Given the description of an element on the screen output the (x, y) to click on. 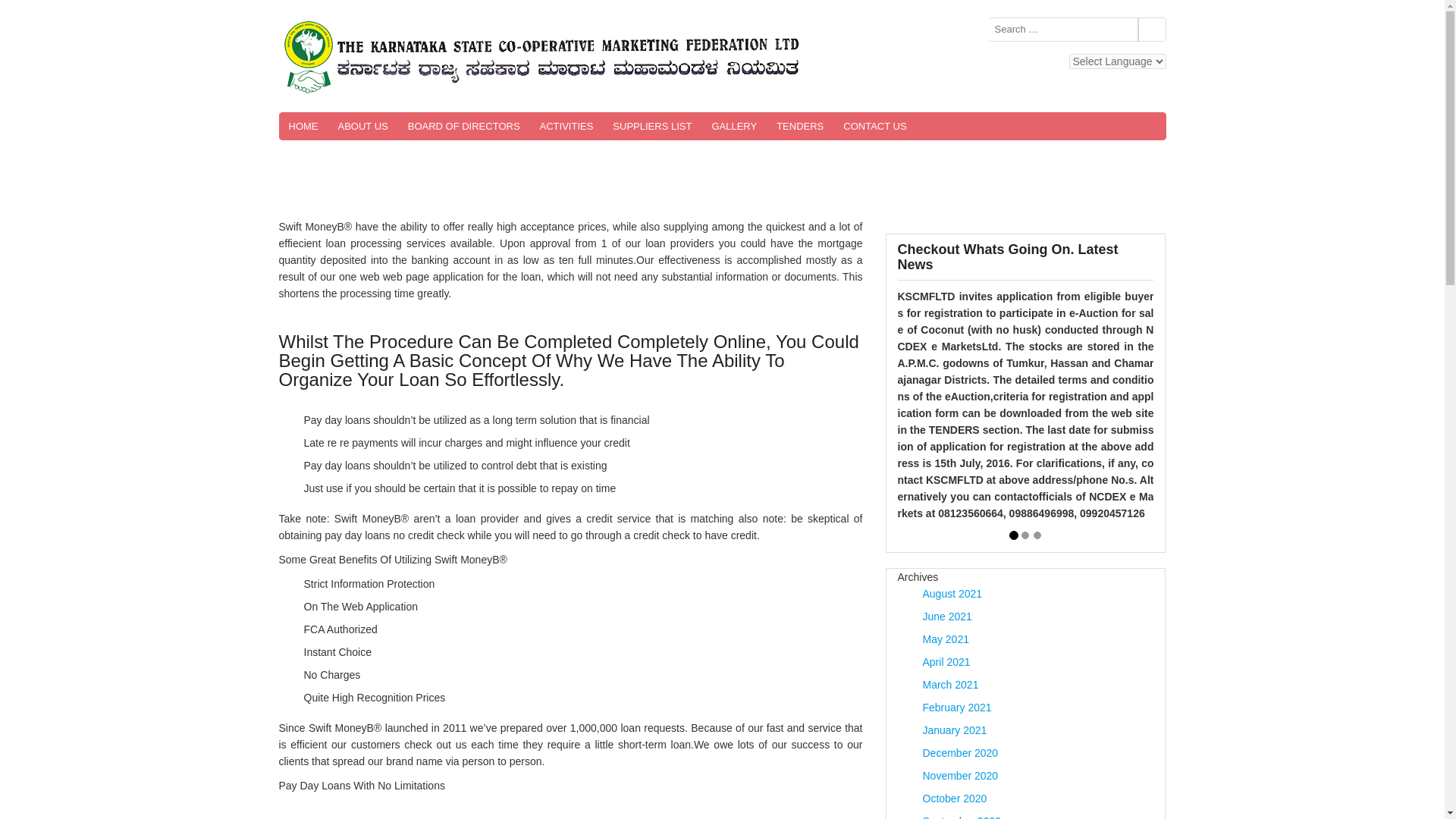
December 2020 (959, 752)
Search for: (1152, 29)
TENDERS (799, 126)
January 2021 (954, 729)
June 2021 (946, 616)
October 2020 (954, 798)
ABOUT US (362, 126)
March 2021 (949, 684)
February 2021 (956, 707)
CONTACT US (873, 126)
ACTIVITIES (566, 126)
SUPPLIERS LIST (651, 126)
November 2020 (959, 775)
May 2021 (944, 639)
HOME (304, 126)
